Given the description of an element on the screen output the (x, y) to click on. 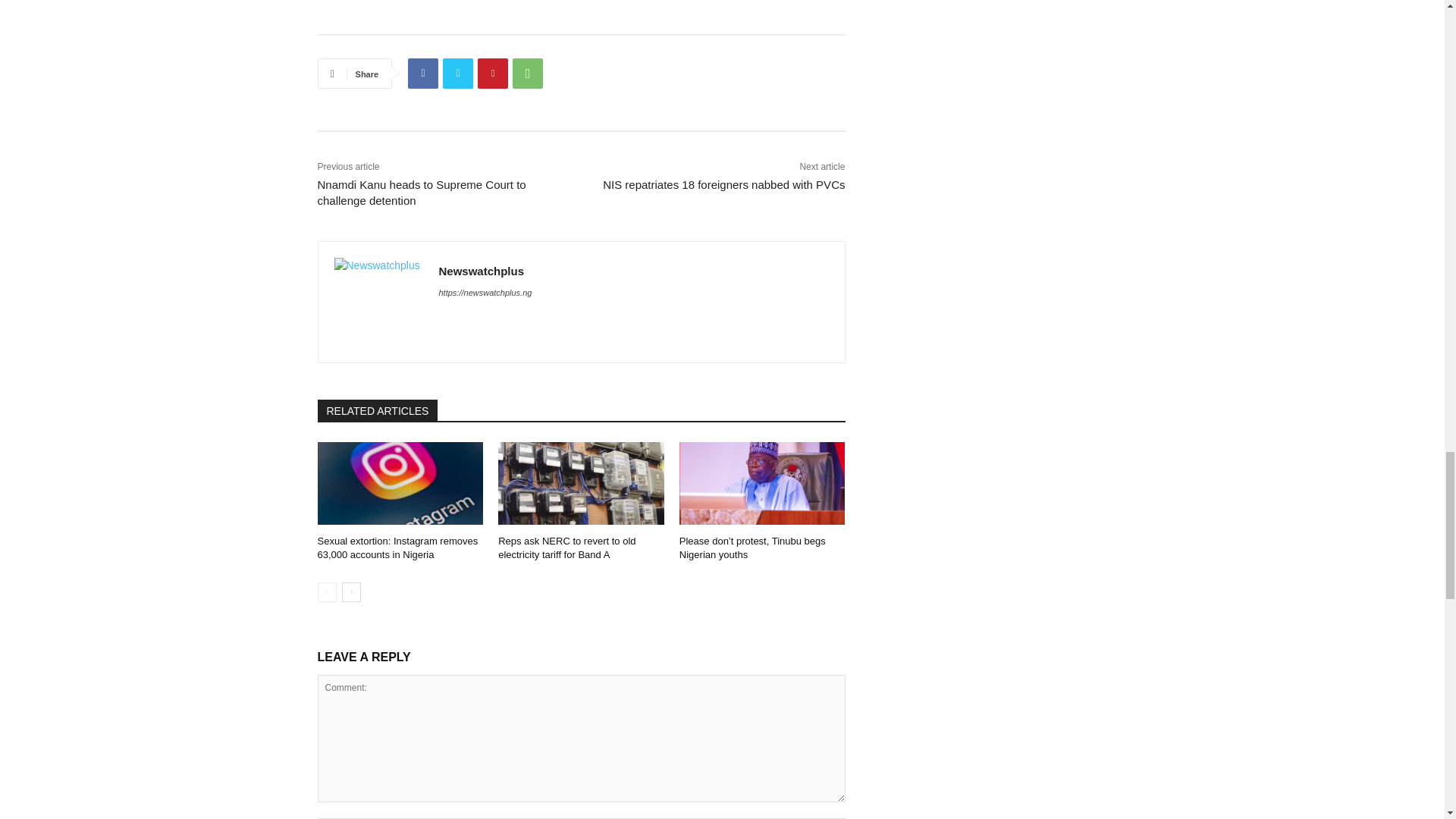
Twitter (457, 73)
Facebook (422, 73)
WhatsApp (527, 73)
Pinterest (492, 73)
